Given the description of an element on the screen output the (x, y) to click on. 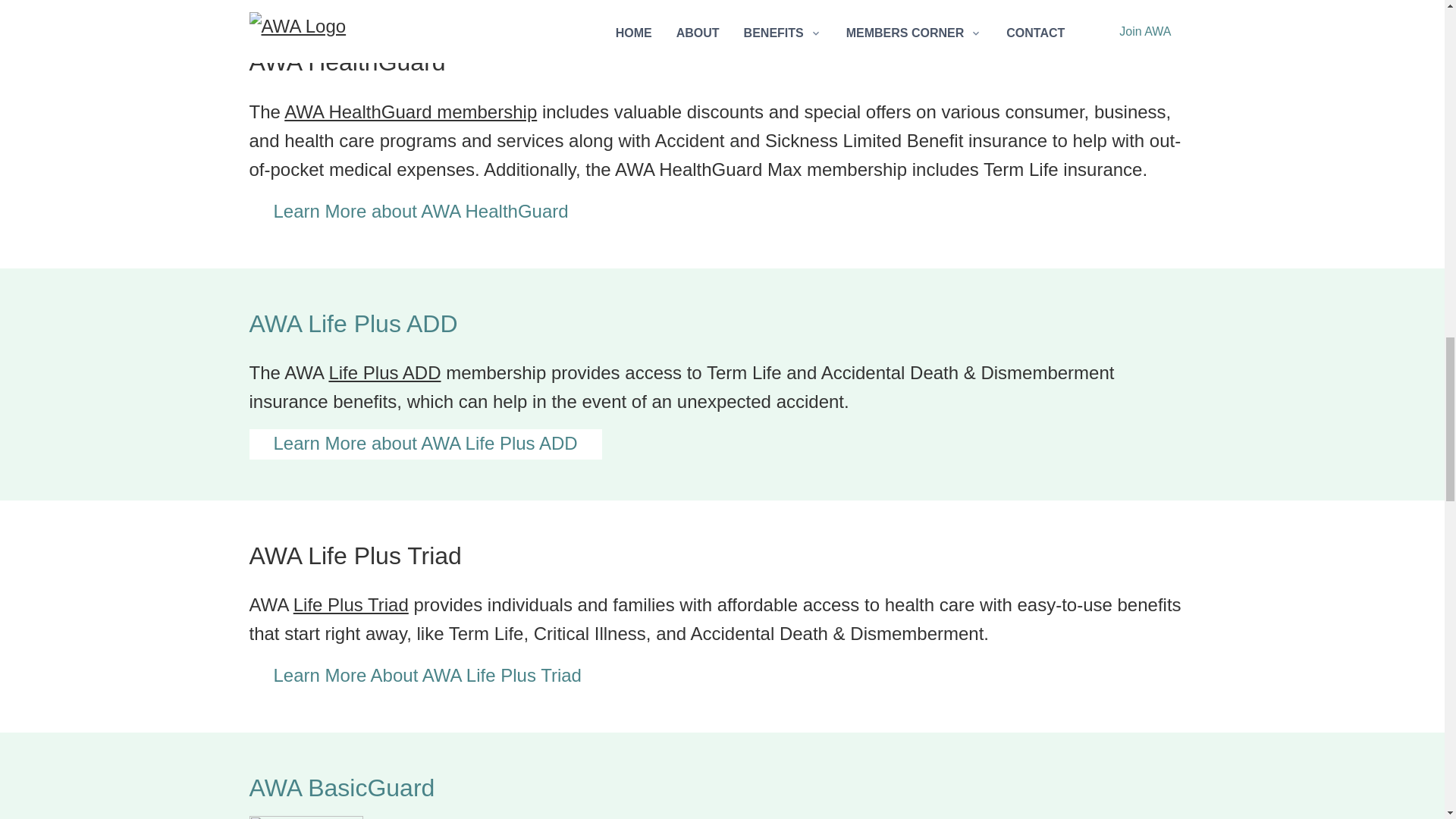
Learn More About AWA Life Plus Triad (426, 675)
Life Plus Triad (351, 604)
Life Plus ADD (385, 372)
Learn More about AWA HealthGuard (420, 212)
Learn More about AWA Life Plus ADD (424, 444)
AWA HealthGuard membership (410, 111)
